Given the description of an element on the screen output the (x, y) to click on. 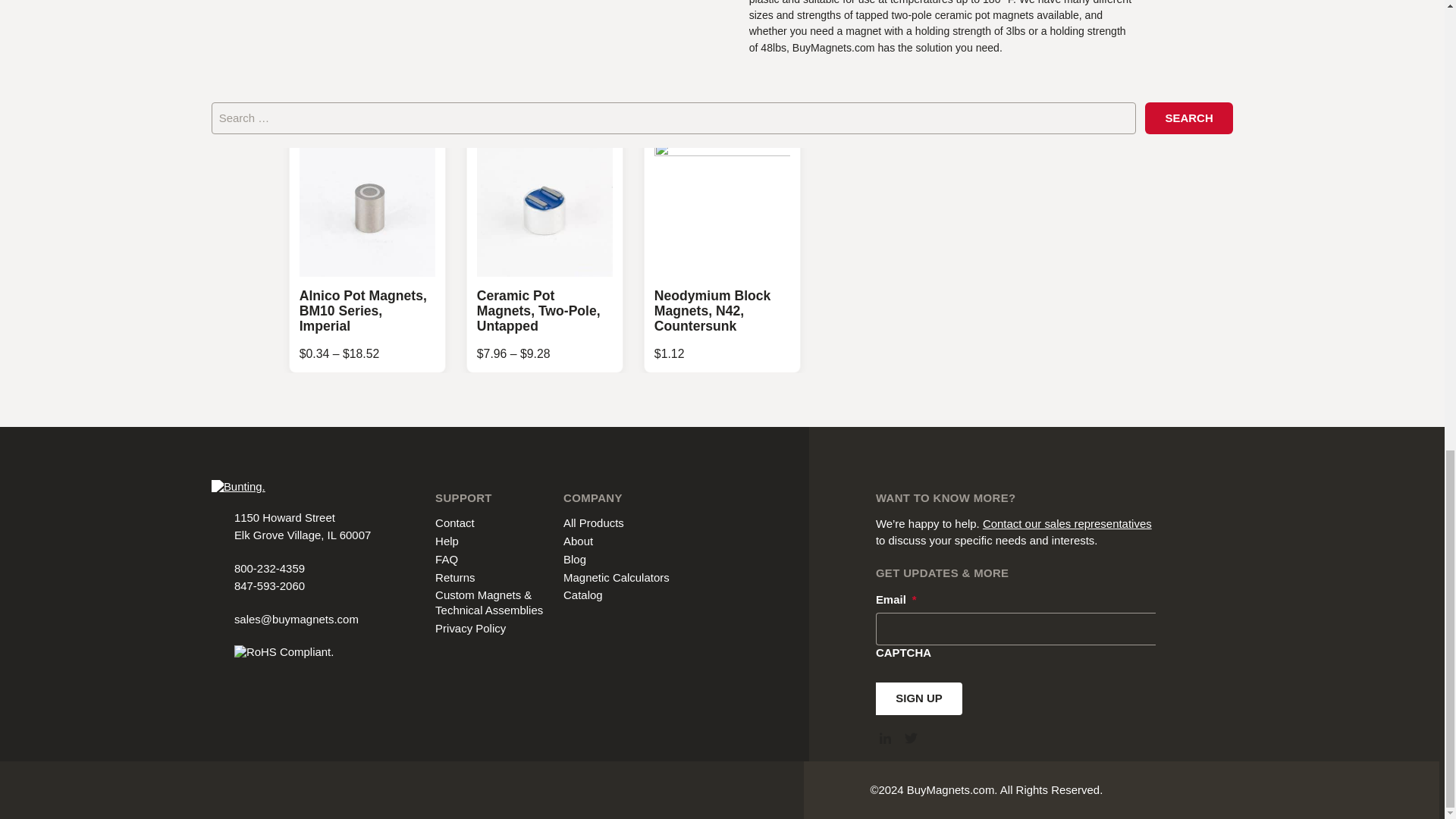
Sign Up (919, 698)
